Given the description of an element on the screen output the (x, y) to click on. 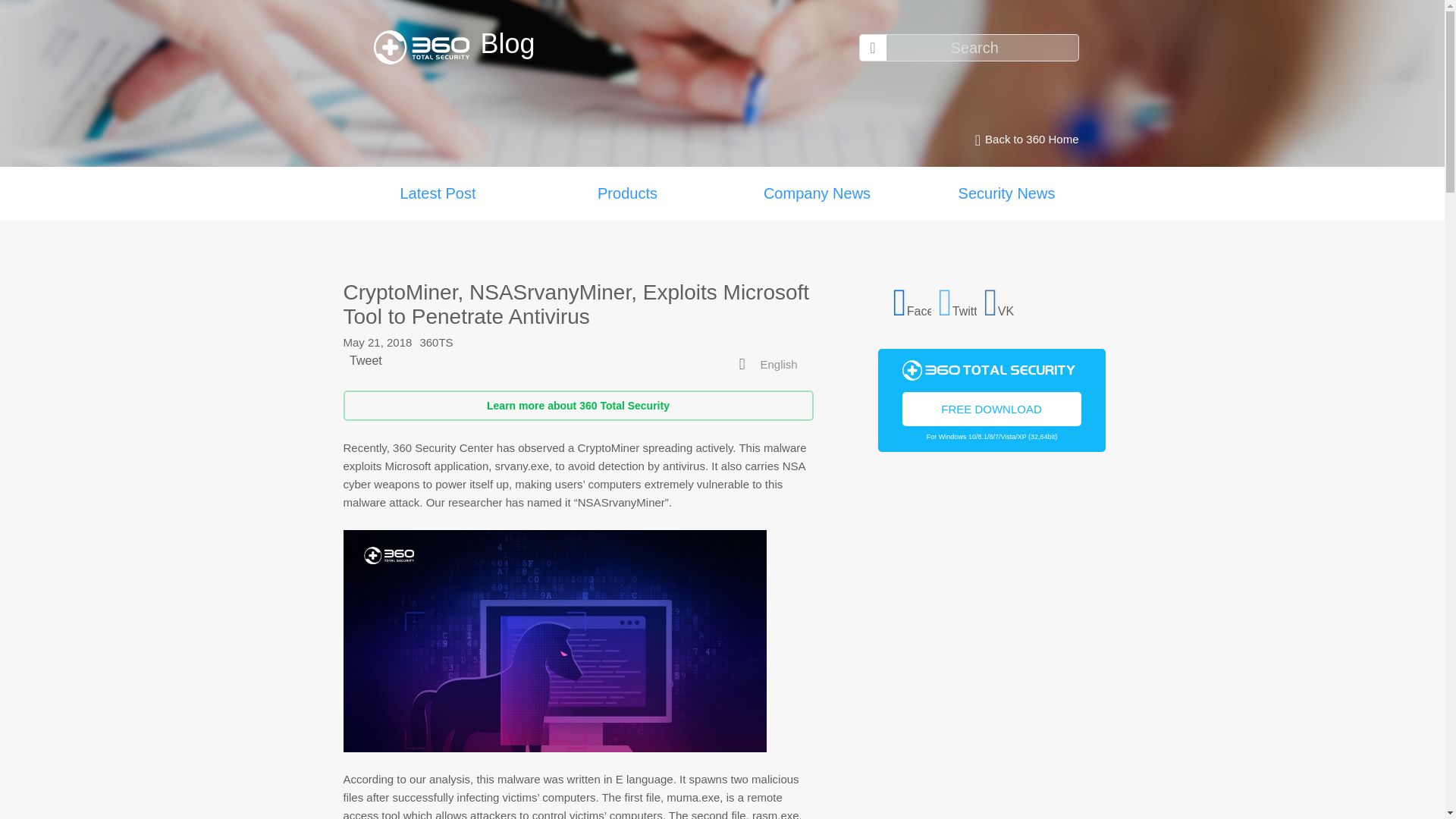
Learn more about 360 Total Security (577, 405)
Facebook (912, 299)
Company News (816, 193)
360 Total Security Blog Logo (426, 47)
Latest Post (437, 193)
Twitter (957, 299)
Security News (1005, 193)
Free Download (991, 408)
VK (1003, 299)
Tweet (365, 359)
Learn more about 360 Total Security (577, 405)
Back to 360 Home (1022, 140)
Products (627, 193)
FREE DOWNLOAD (991, 408)
